Given the description of an element on the screen output the (x, y) to click on. 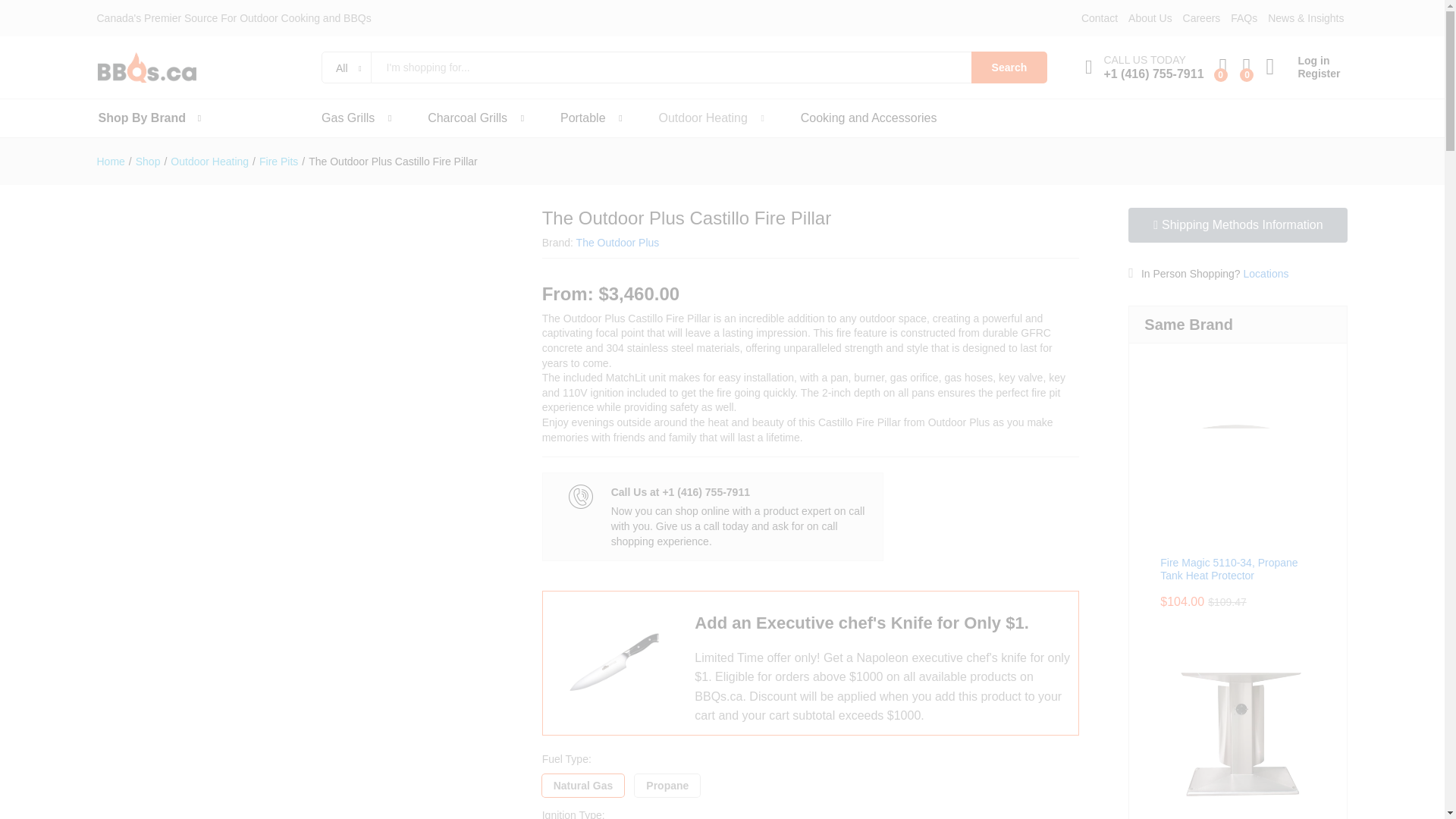
Gas Grills (347, 118)
Careers (1201, 18)
FAQs (1243, 18)
About Us (1150, 18)
Log in (1302, 60)
Register (1302, 73)
Search (1008, 67)
Contact (1099, 18)
